Given the description of an element on the screen output the (x, y) to click on. 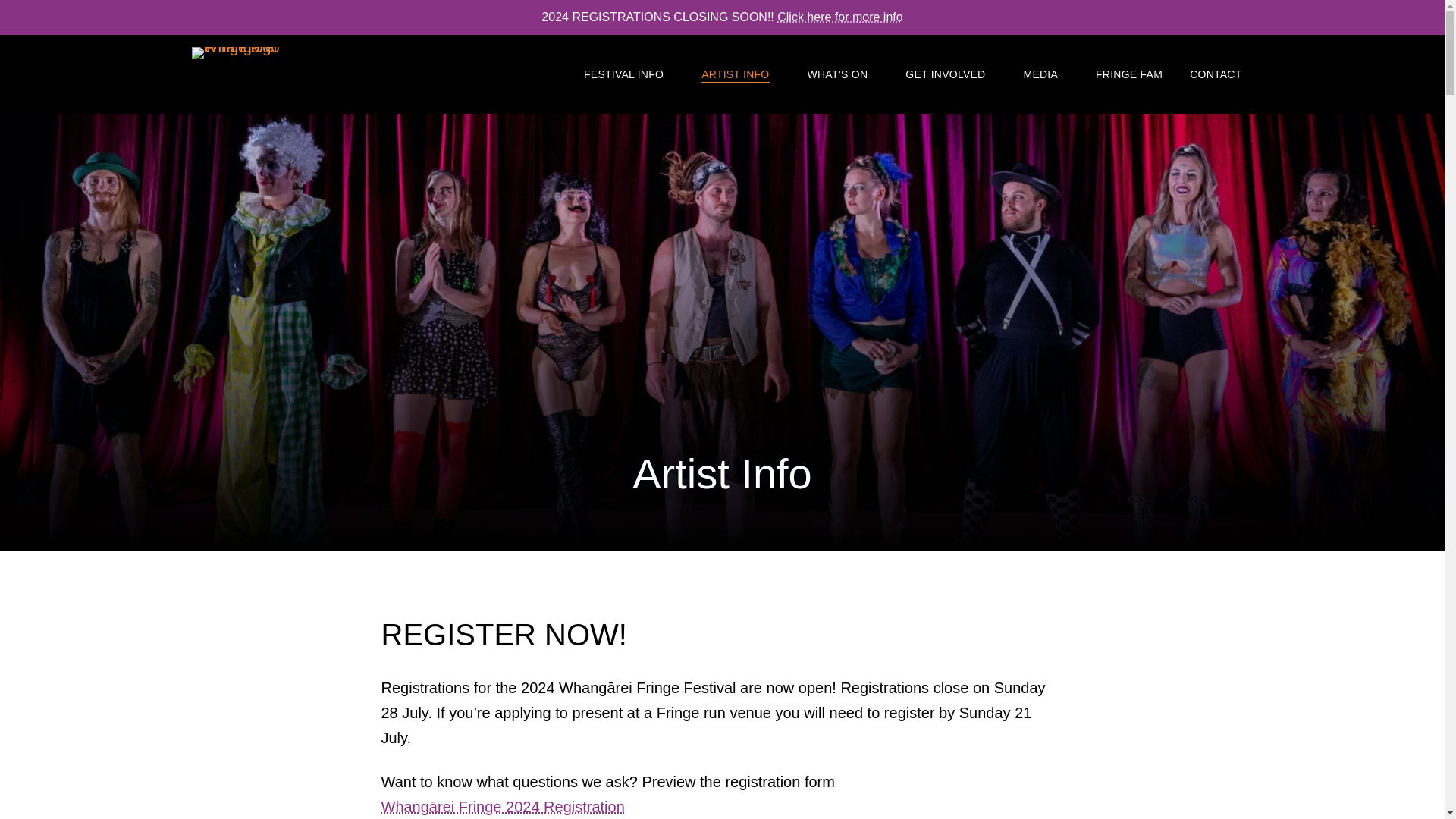
Link to the Home page.  (243, 78)
MEDIA (1039, 74)
FESTIVAL INFO (623, 74)
ARTIST INFO (734, 74)
FRINGE FAM (1123, 74)
Click here for more info (839, 17)
CONTACT (1215, 74)
GET INVOLVED (944, 74)
